Given the description of an element on the screen output the (x, y) to click on. 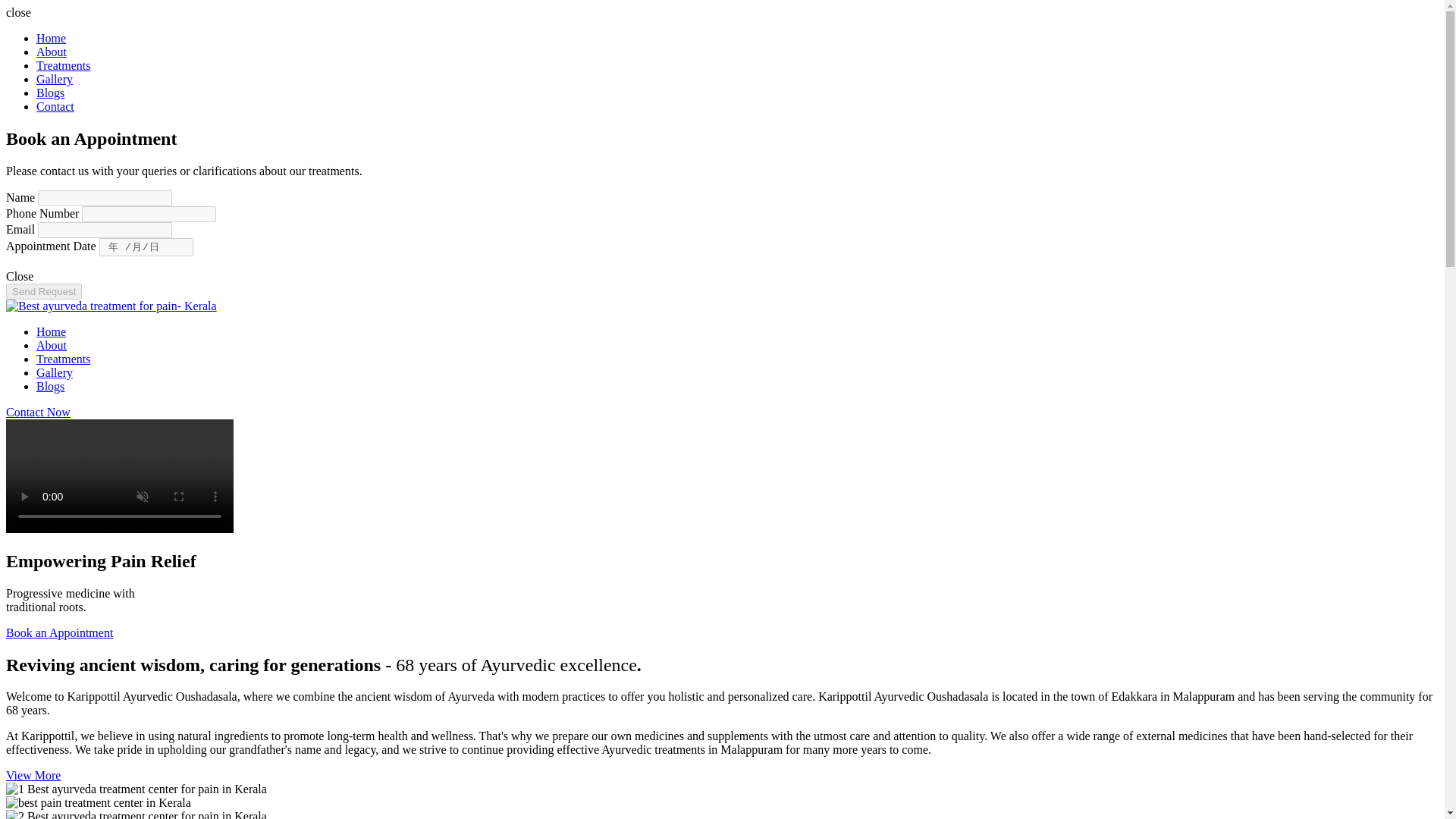
Home (50, 38)
Contact (55, 106)
Treatments (63, 358)
Blogs (50, 386)
About (51, 345)
Contact Now (37, 411)
Gallery (54, 78)
Home (50, 331)
Send Request (43, 291)
Book an Appointment (59, 632)
About (51, 51)
View More (33, 775)
Gallery (54, 372)
Blogs (50, 92)
Treatments (63, 65)
